Given the description of an element on the screen output the (x, y) to click on. 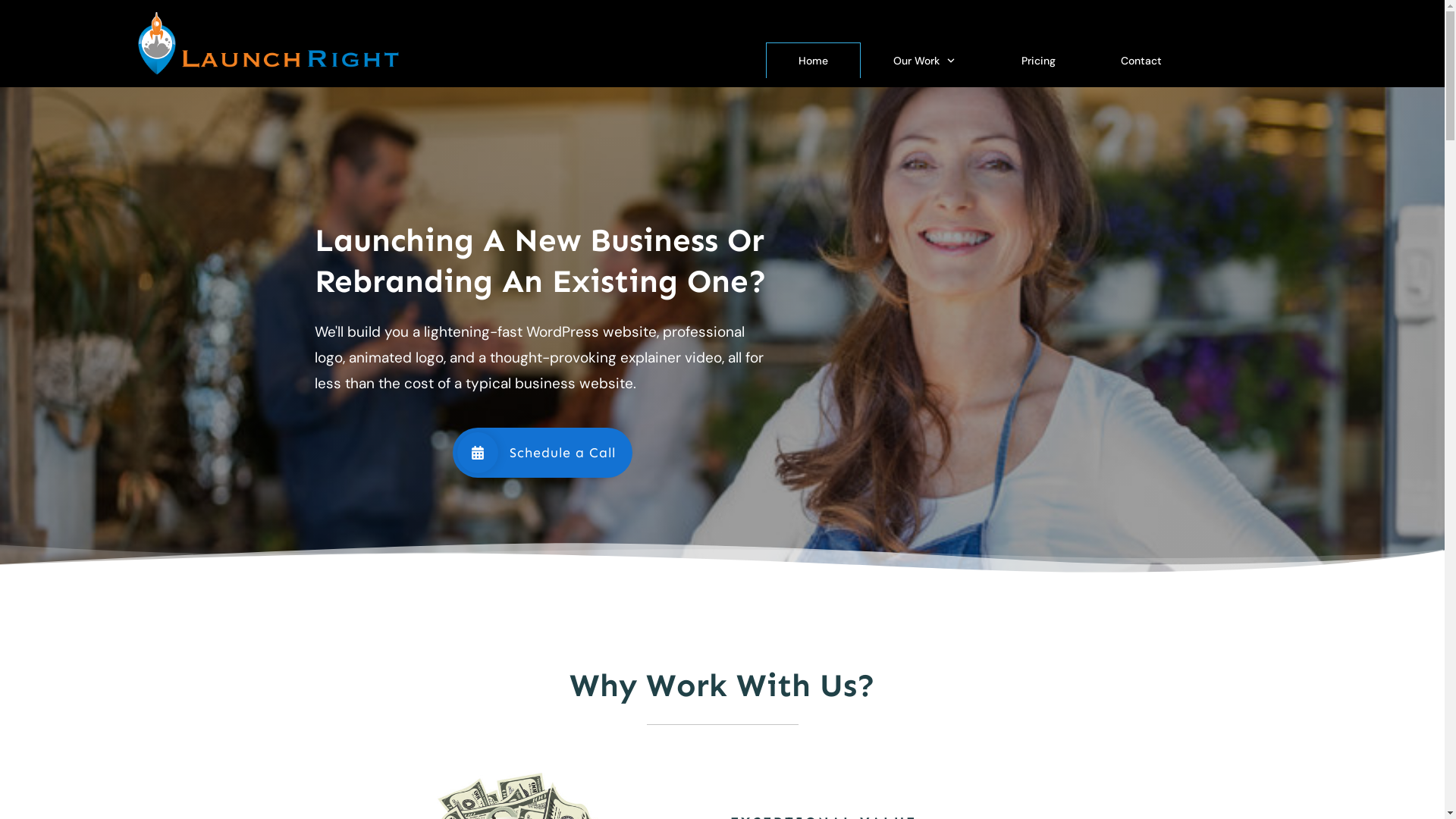
Our Work Element type: text (924, 60)
Schedule a Call Element type: text (541, 452)
Contact Element type: text (1140, 60)
Pricing Element type: text (1038, 60)
Home Element type: text (813, 60)
